Given the description of an element on the screen output the (x, y) to click on. 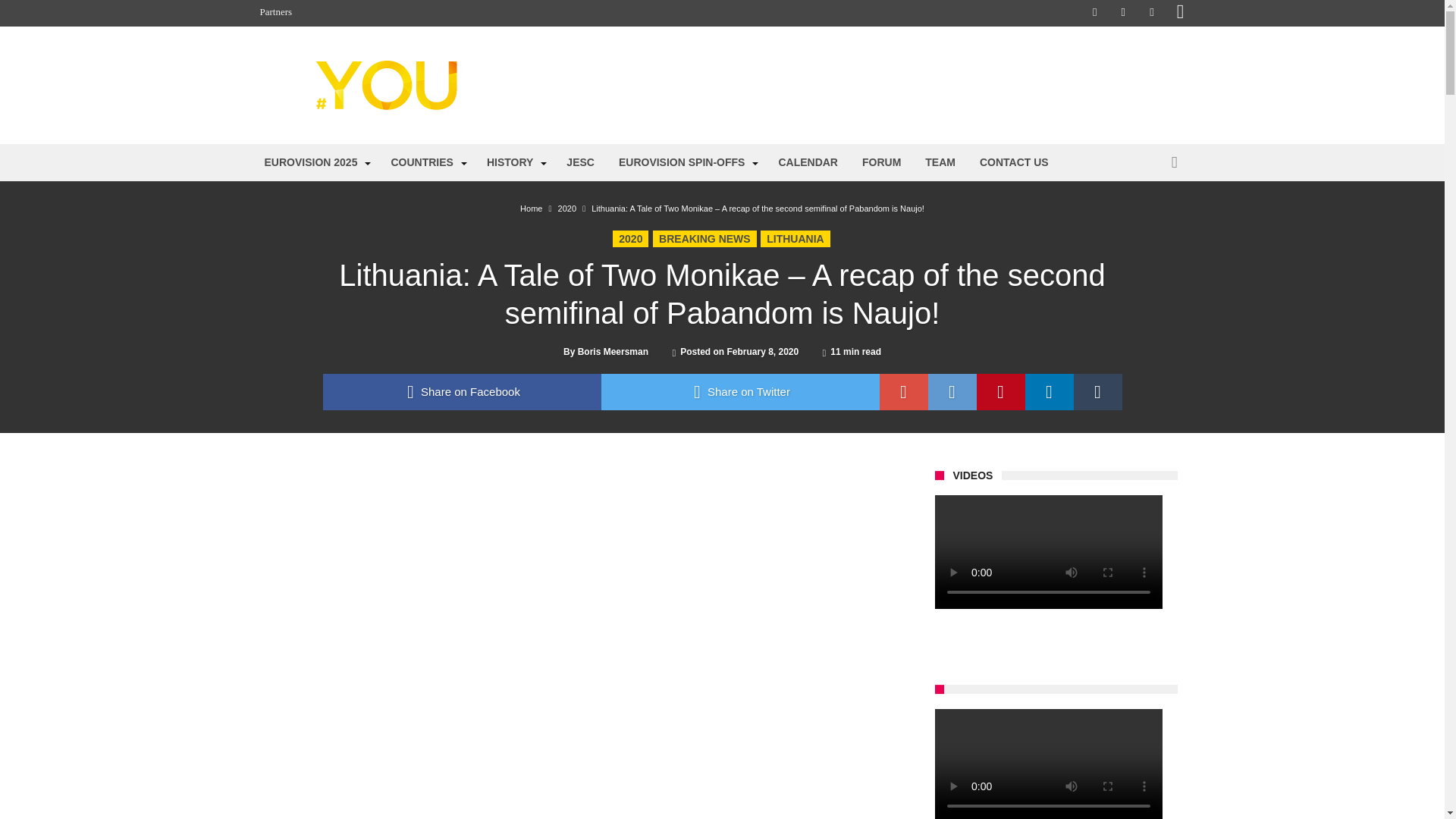
Partners (275, 12)
COUNTRIES (426, 162)
instagram (1179, 13)
Forum (1133, 84)
Facebook (1094, 13)
twitter (739, 391)
EUROVISION 2025 (314, 162)
escYOUnited (405, 59)
facebook (462, 391)
Youtube (1151, 13)
